Given the description of an element on the screen output the (x, y) to click on. 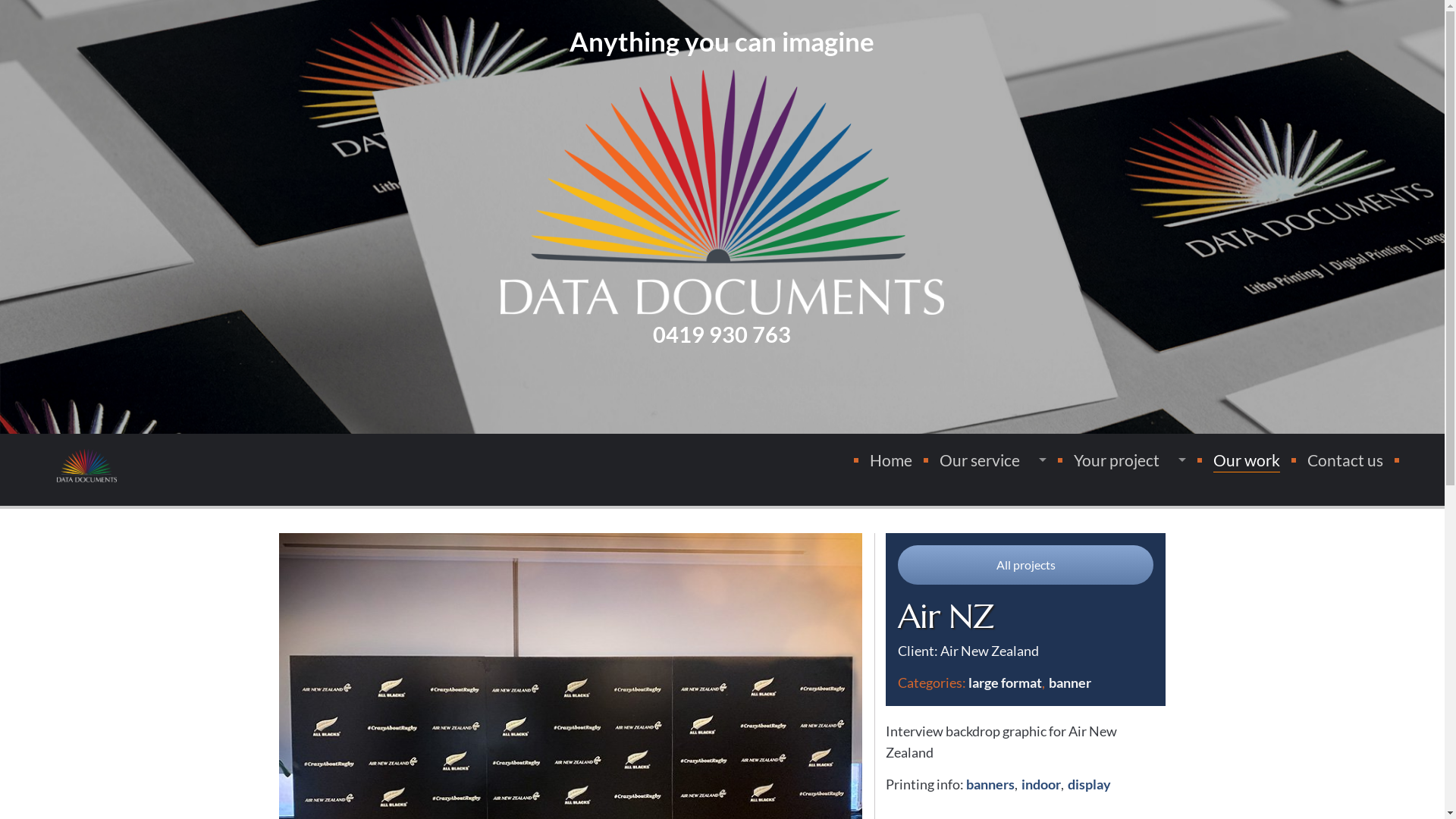
All projects Element type: text (1025, 563)
Large format printing Element type: text (987, 522)
Your project Element type: text (1129, 459)
banner Element type: text (1069, 682)
Types of printing Element type: text (987, 488)
Templates Element type: text (1124, 522)
Contact us Element type: text (1345, 459)
Home Element type: text (890, 459)
Preparing artwork Element type: text (1124, 488)
Your feedback Element type: text (987, 658)
Assembly and fulfilment Element type: text (987, 556)
Sustainability Element type: text (987, 590)
display Element type: text (1088, 784)
large format Element type: text (1004, 682)
Your questions Element type: text (987, 693)
0419 930 763 Element type: text (721, 334)
Our service Element type: text (992, 459)
indoor Element type: text (1040, 784)
banners Element type: text (990, 784)
Our team Element type: text (987, 625)
Our work Element type: text (1246, 460)
